Given the description of an element on the screen output the (x, y) to click on. 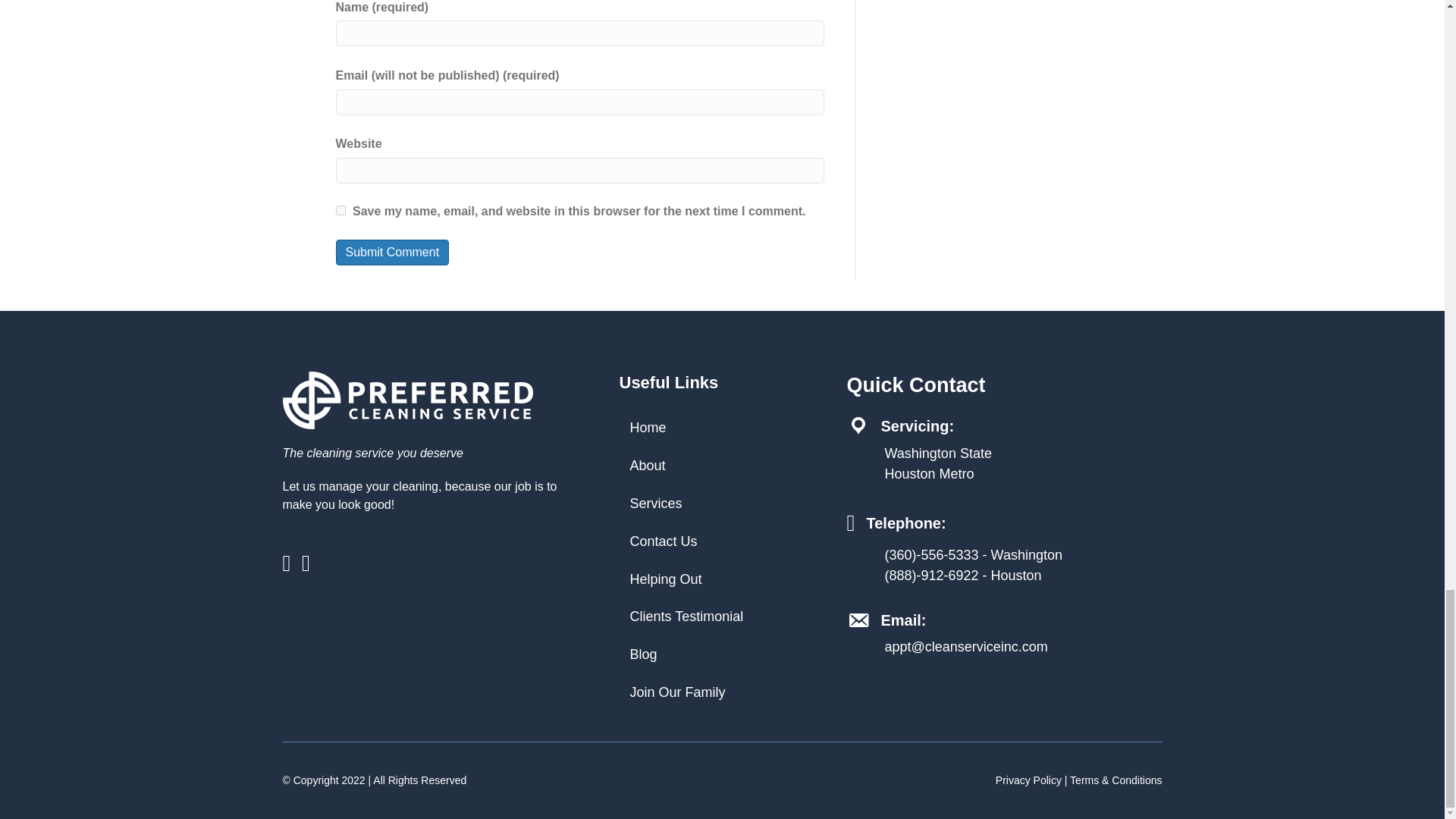
Submit Comment (391, 251)
PCS-footer-logo (407, 400)
Submit Comment (391, 251)
yes (339, 210)
